Given the description of an element on the screen output the (x, y) to click on. 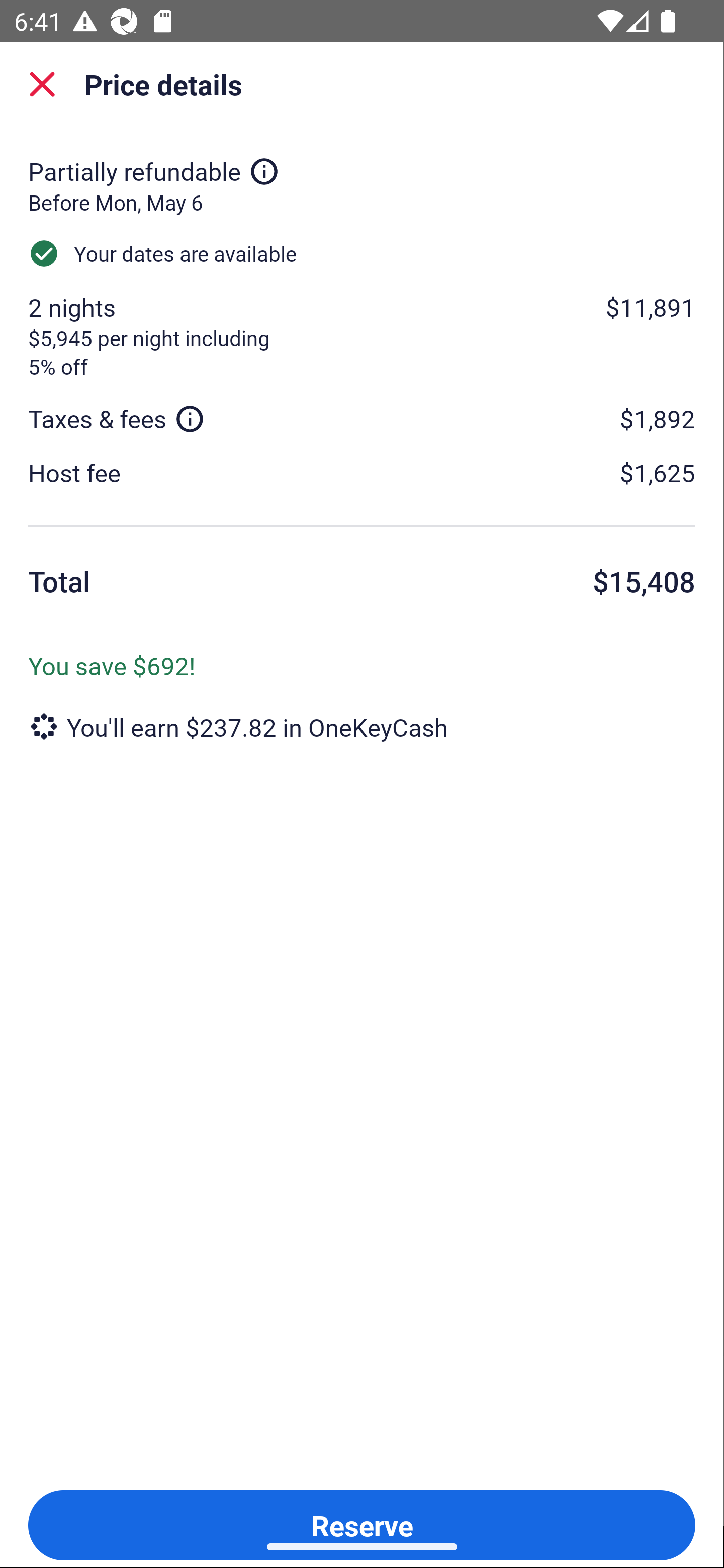
Close dialog (42, 84)
Partially refundable (154, 170)
Taxes & fees (116, 418)
